Given the description of an element on the screen output the (x, y) to click on. 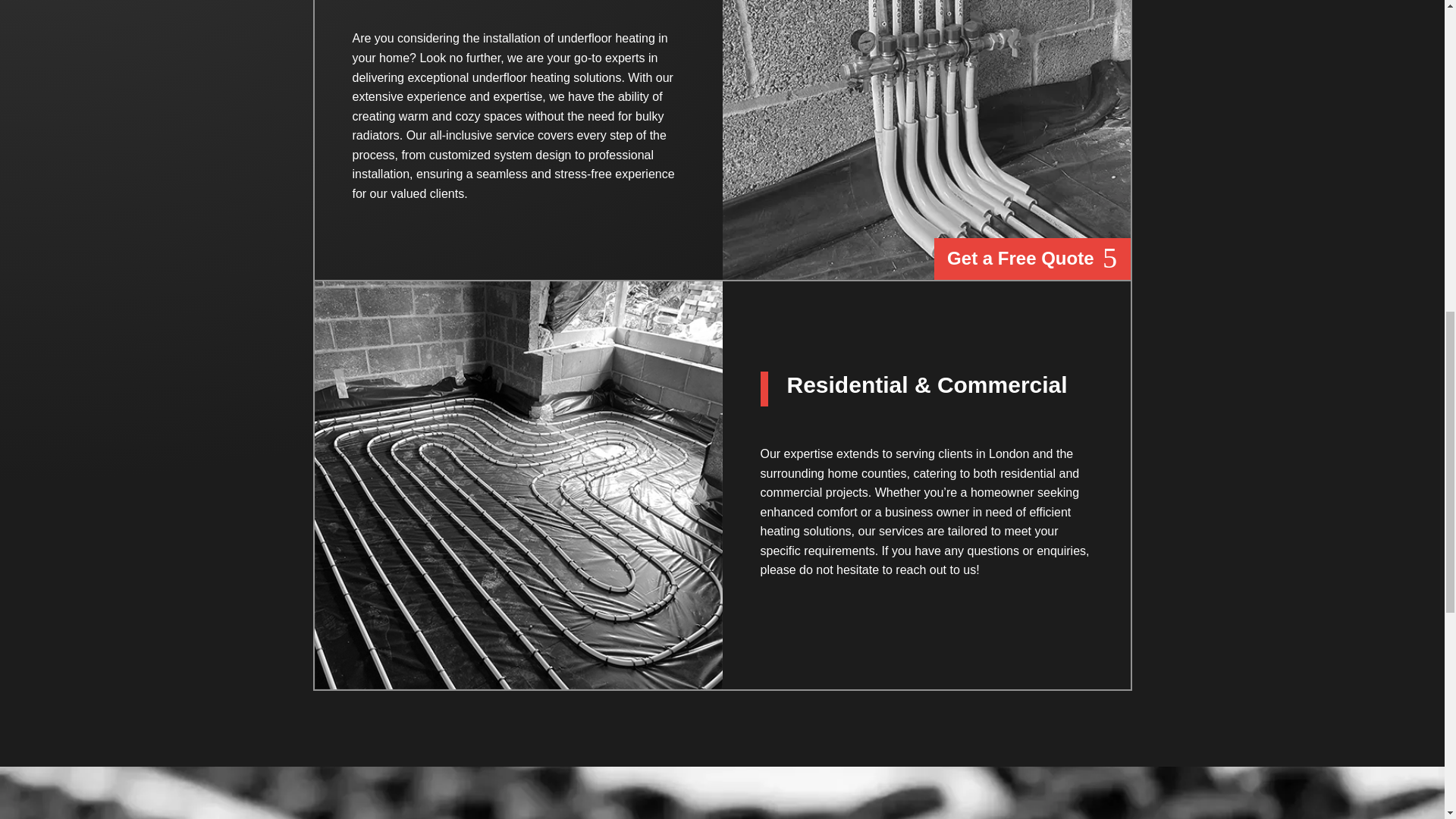
Get a Free Quote (1031, 259)
